Given the description of an element on the screen output the (x, y) to click on. 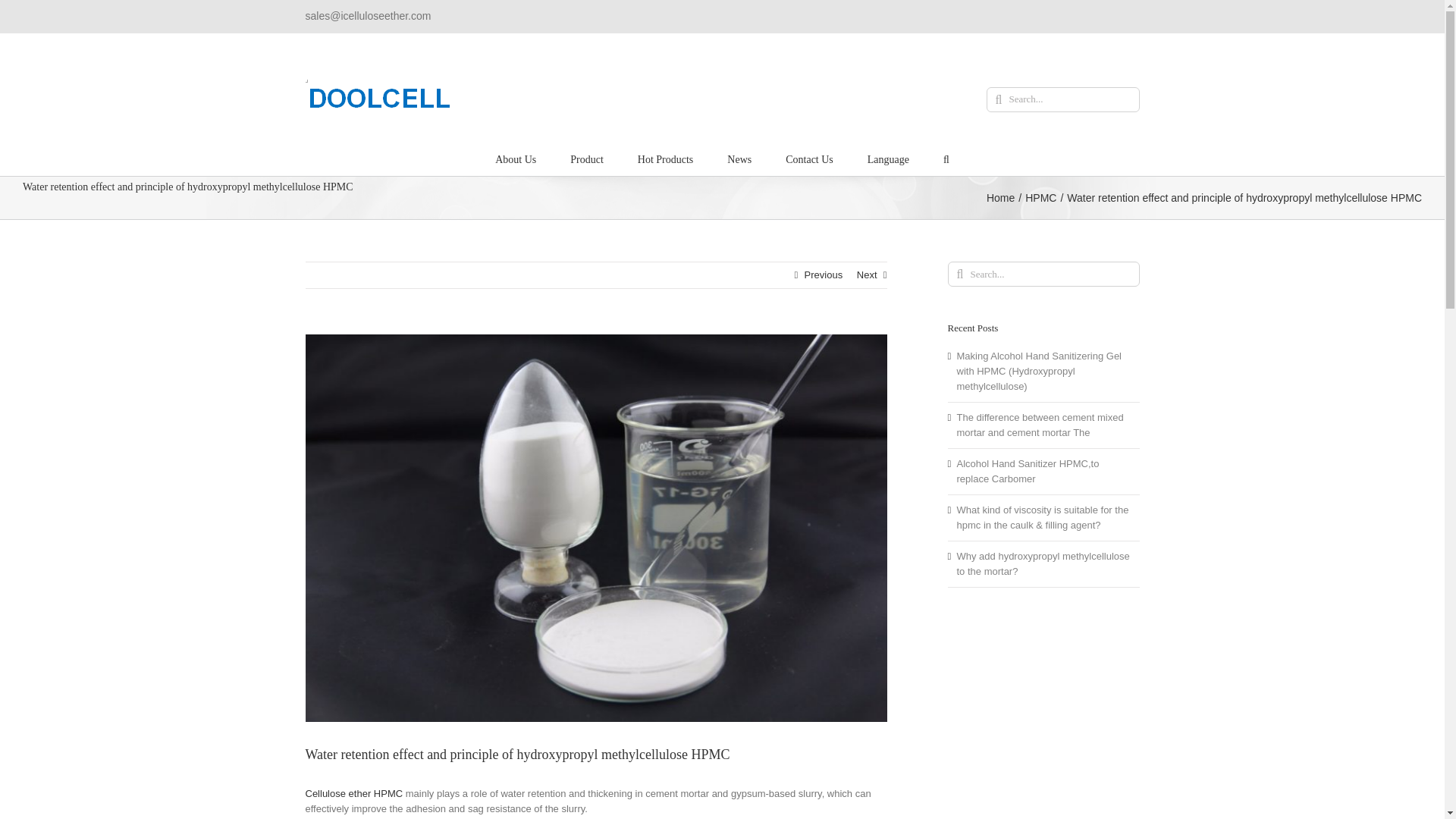
HPMC (1041, 197)
Hot Products (665, 158)
About Us (515, 158)
Language (887, 158)
Contact Us (809, 158)
Home (1000, 197)
Product (587, 158)
